Given the description of an element on the screen output the (x, y) to click on. 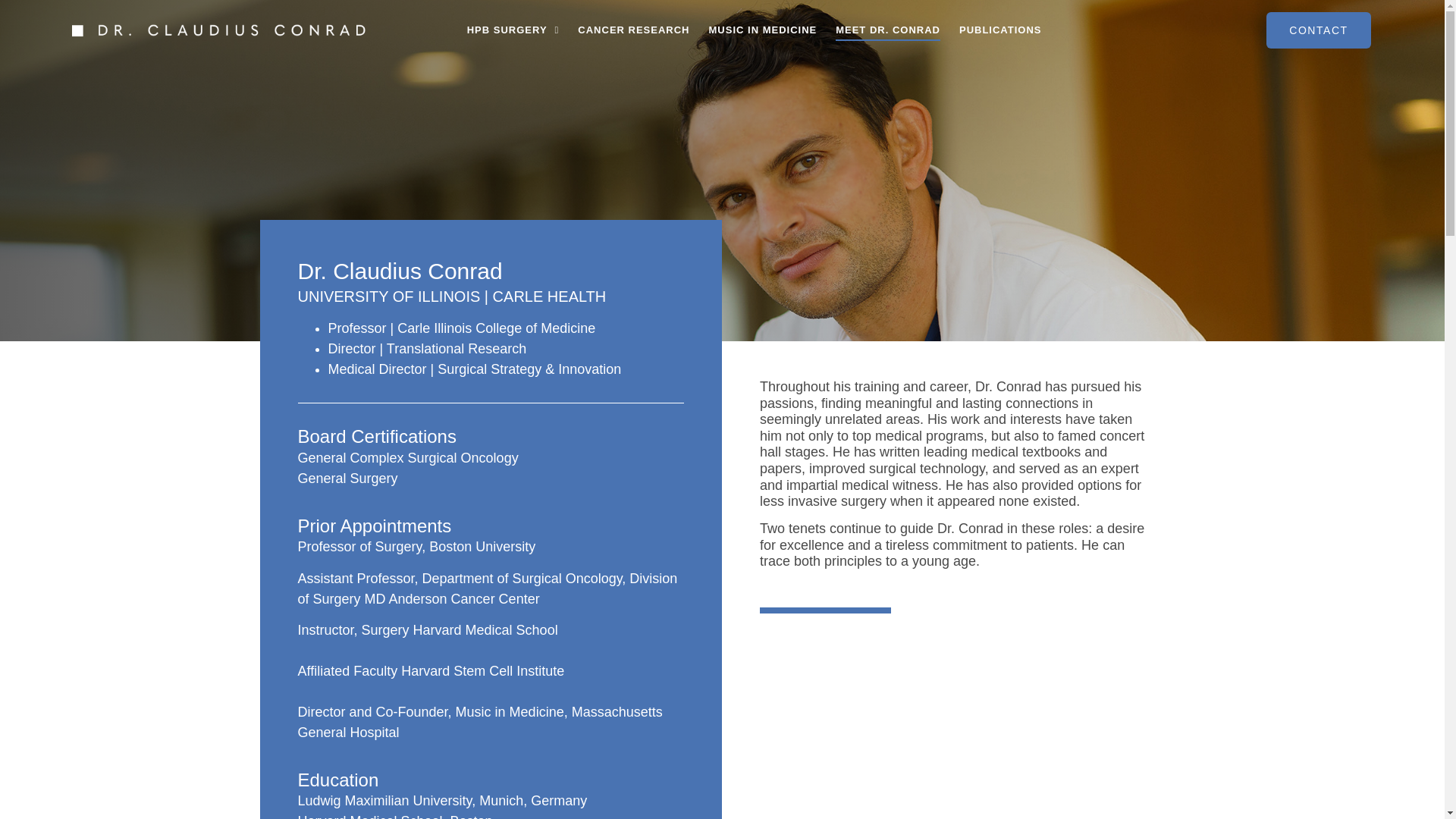
MUSIC IN MEDICINE (762, 29)
HPB SURGERY (513, 29)
CANCER RESEARCH (633, 29)
CONTACT (1318, 30)
PUBLICATIONS (1000, 29)
MEET DR. CONRAD (887, 29)
